Given the description of an element on the screen output the (x, y) to click on. 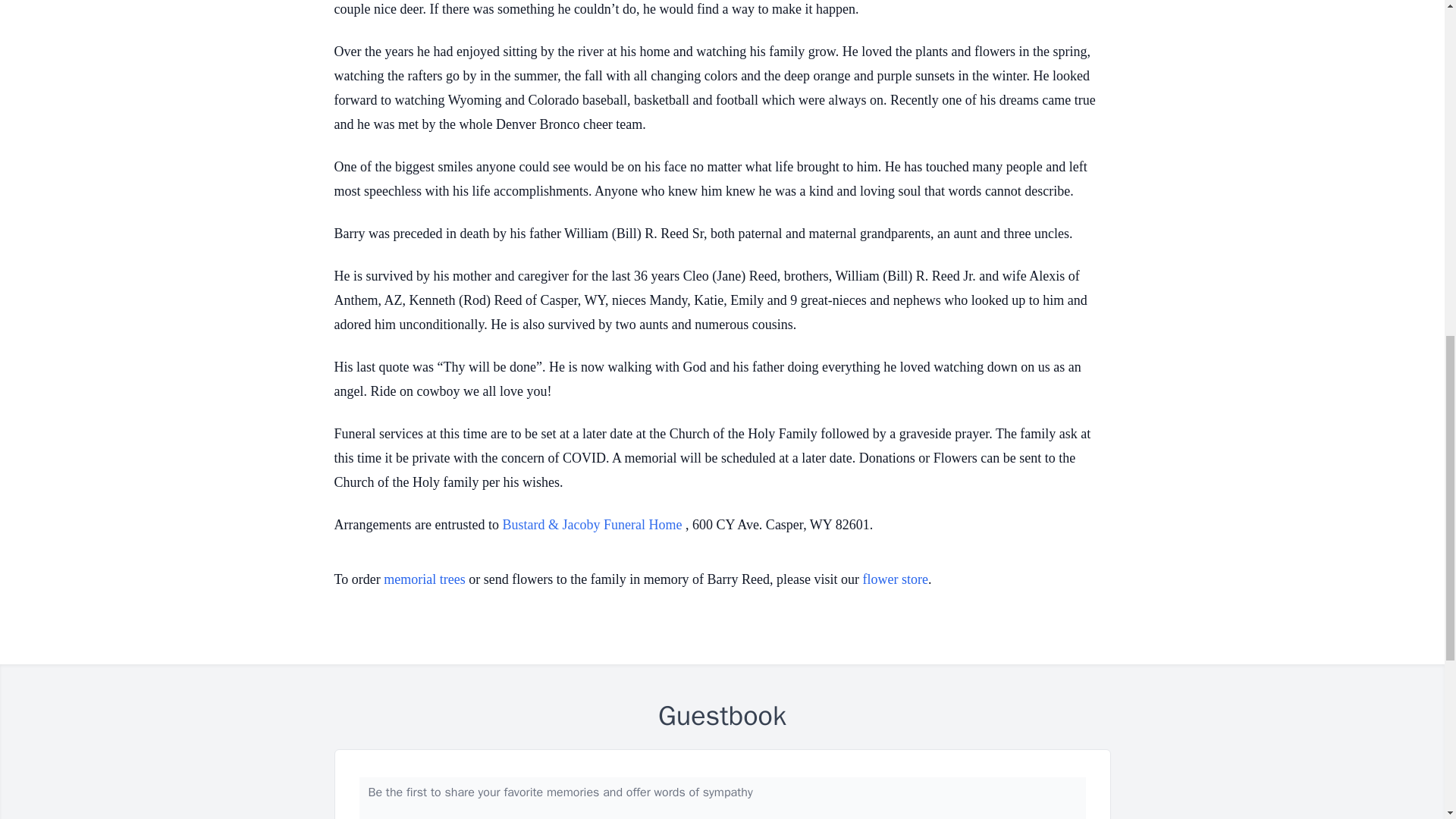
flower store (895, 579)
memorial trees (424, 579)
